Given the description of an element on the screen output the (x, y) to click on. 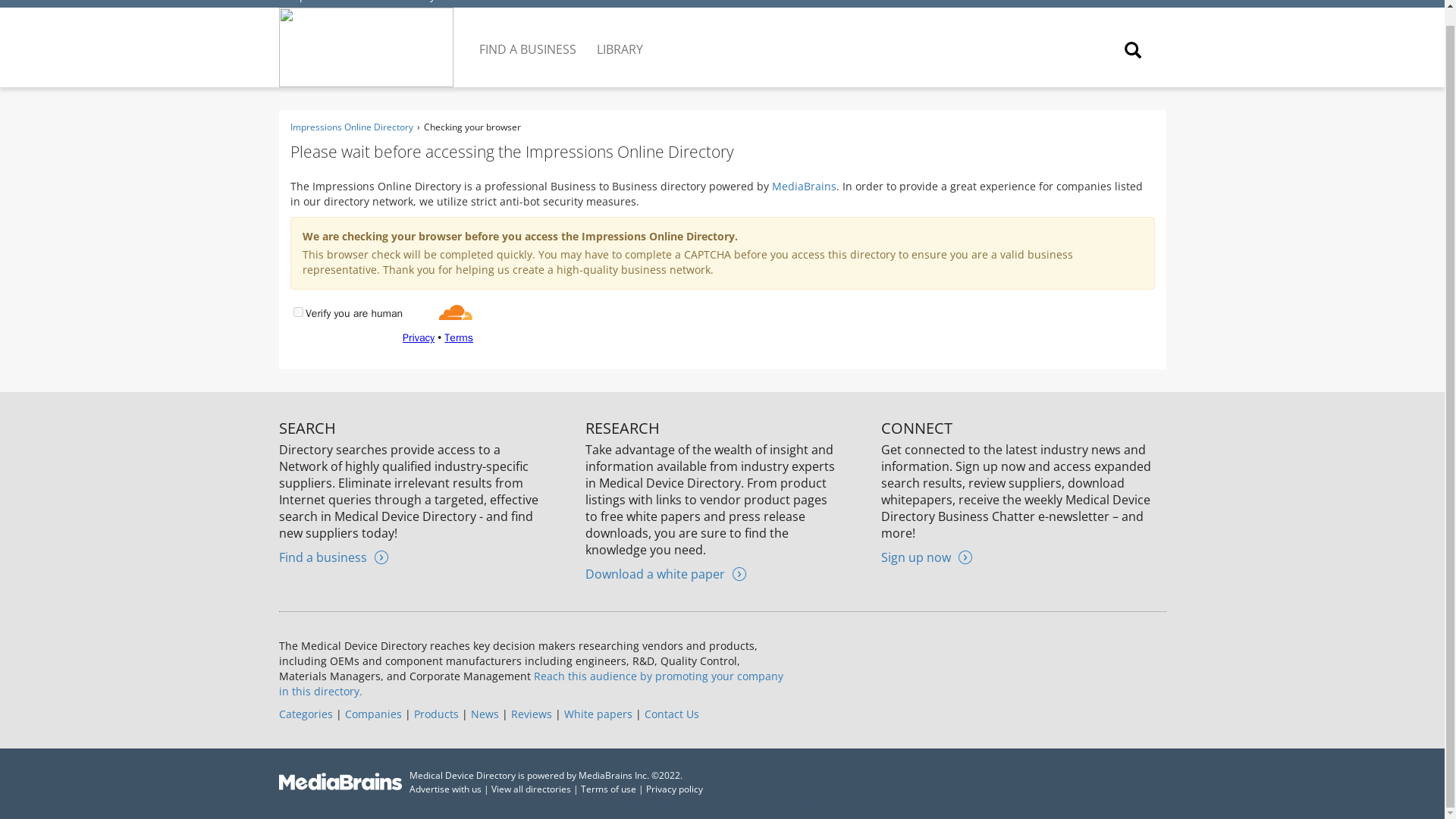
Categories (306, 713)
Advertise with us (445, 788)
Contact Us (671, 713)
Download a white paper (665, 573)
Products (435, 713)
Terms of use (608, 788)
LIBRARY (620, 37)
Reviews (531, 713)
Privacy policy (674, 788)
Impressions Online Directory (350, 126)
Impressions Online Directory (360, 1)
Find a business (333, 556)
View all directories (531, 788)
FIND A BUSINESS (528, 37)
